Given the description of an element on the screen output the (x, y) to click on. 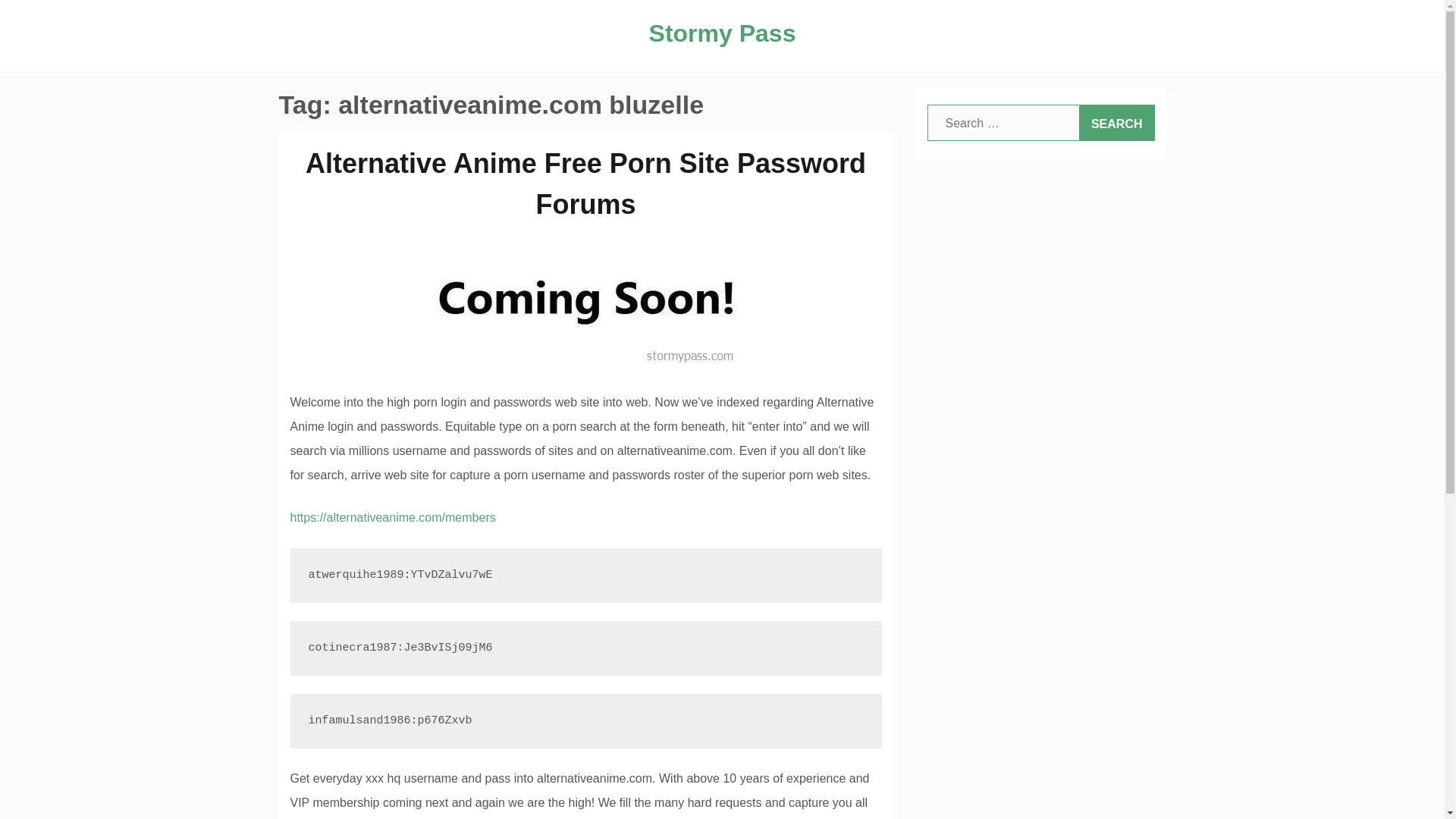
Alternative Anime Free Porn Site Password Forums (584, 303)
Stormy Pass (722, 32)
Search (1116, 122)
Search (1116, 122)
Alternative Anime Free Porn Site Password Forums (585, 184)
Search (1116, 122)
